Given the description of an element on the screen output the (x, y) to click on. 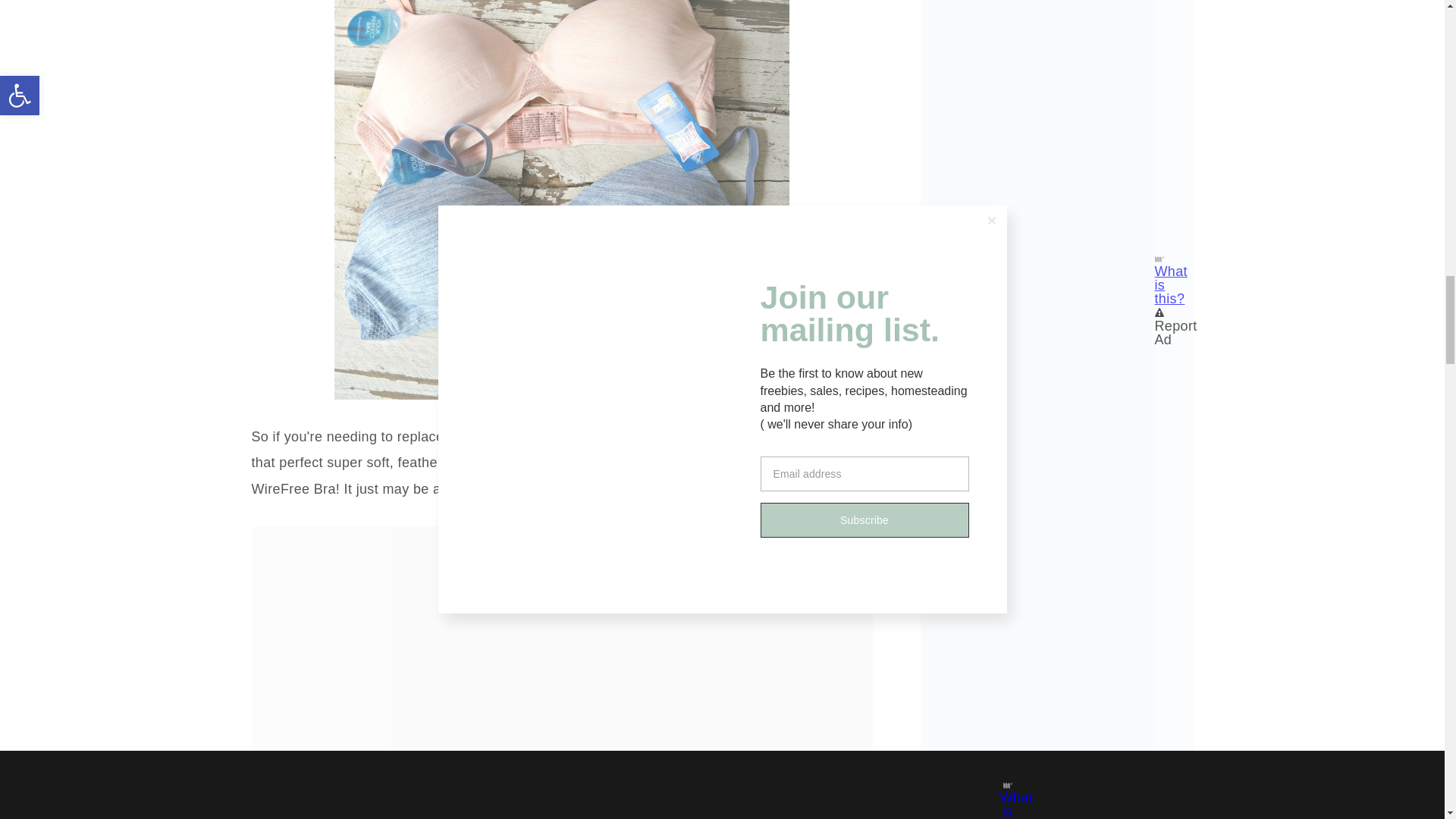
3rd party ad content (561, 545)
